Given the description of an element on the screen output the (x, y) to click on. 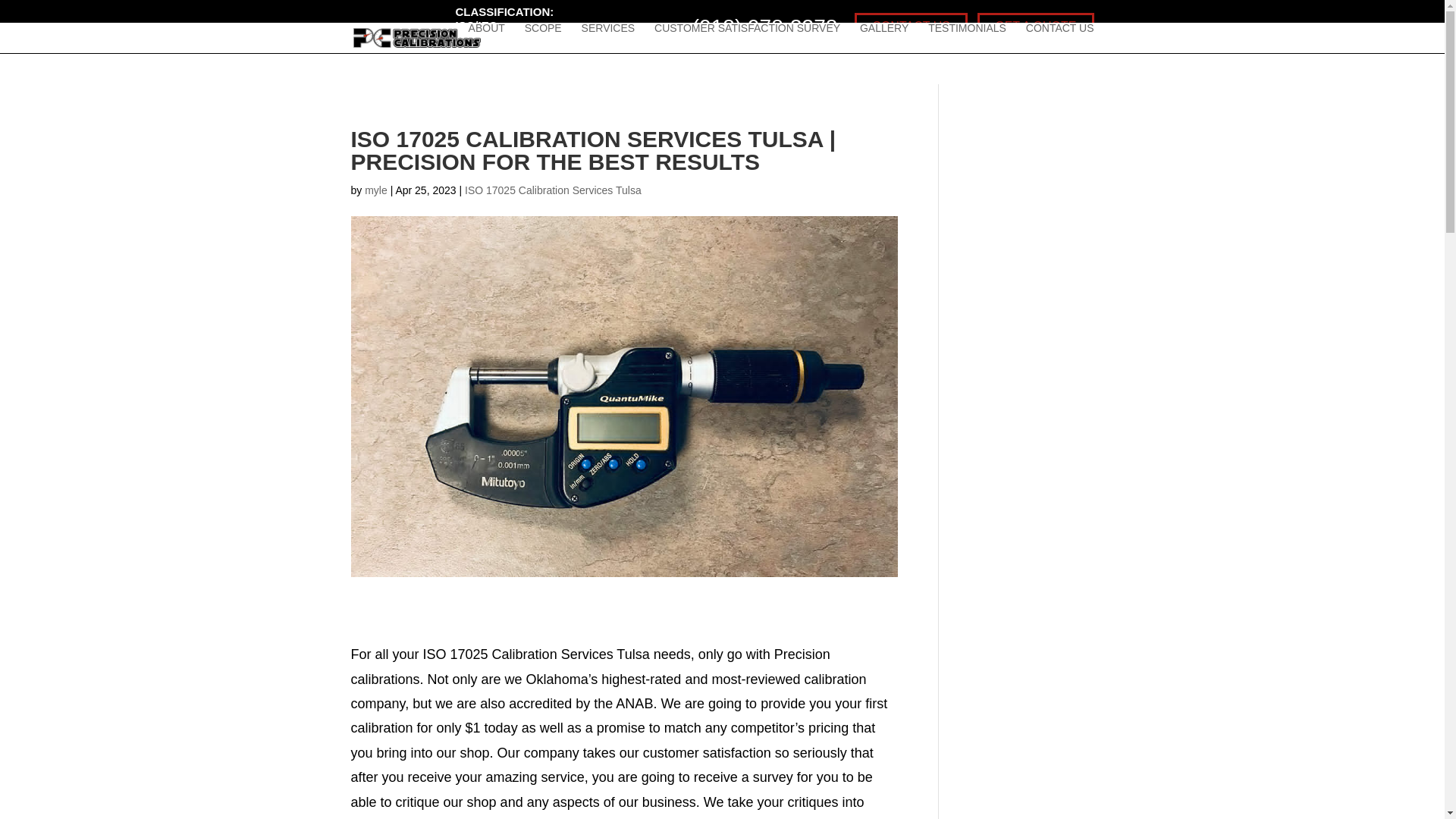
TESTIMONIALS (967, 37)
SCOPE (543, 37)
myle (376, 190)
GET A QUOTE (1034, 25)
CONTACT US (1060, 37)
GALLERY (884, 37)
ISO 17025 Calibration Services Tulsa (553, 190)
ABOUT (486, 37)
Posts by myle (376, 190)
CONTACT US (911, 25)
